Given the description of an element on the screen output the (x, y) to click on. 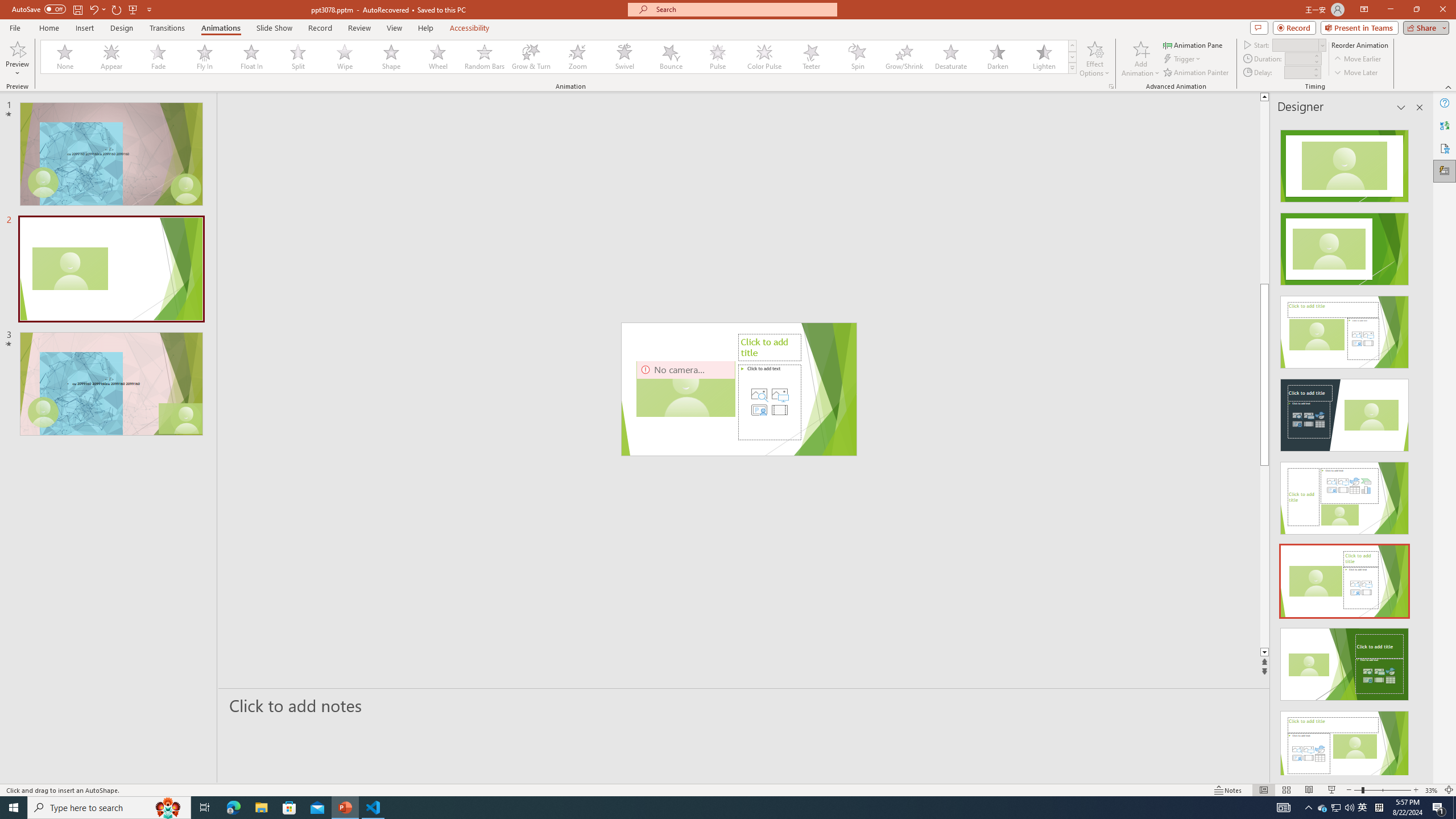
Add Animation (1141, 58)
Animation Duration (1298, 58)
Content Placeholder (769, 402)
More Options... (1110, 85)
Float In (251, 56)
